Given the description of an element on the screen output the (x, y) to click on. 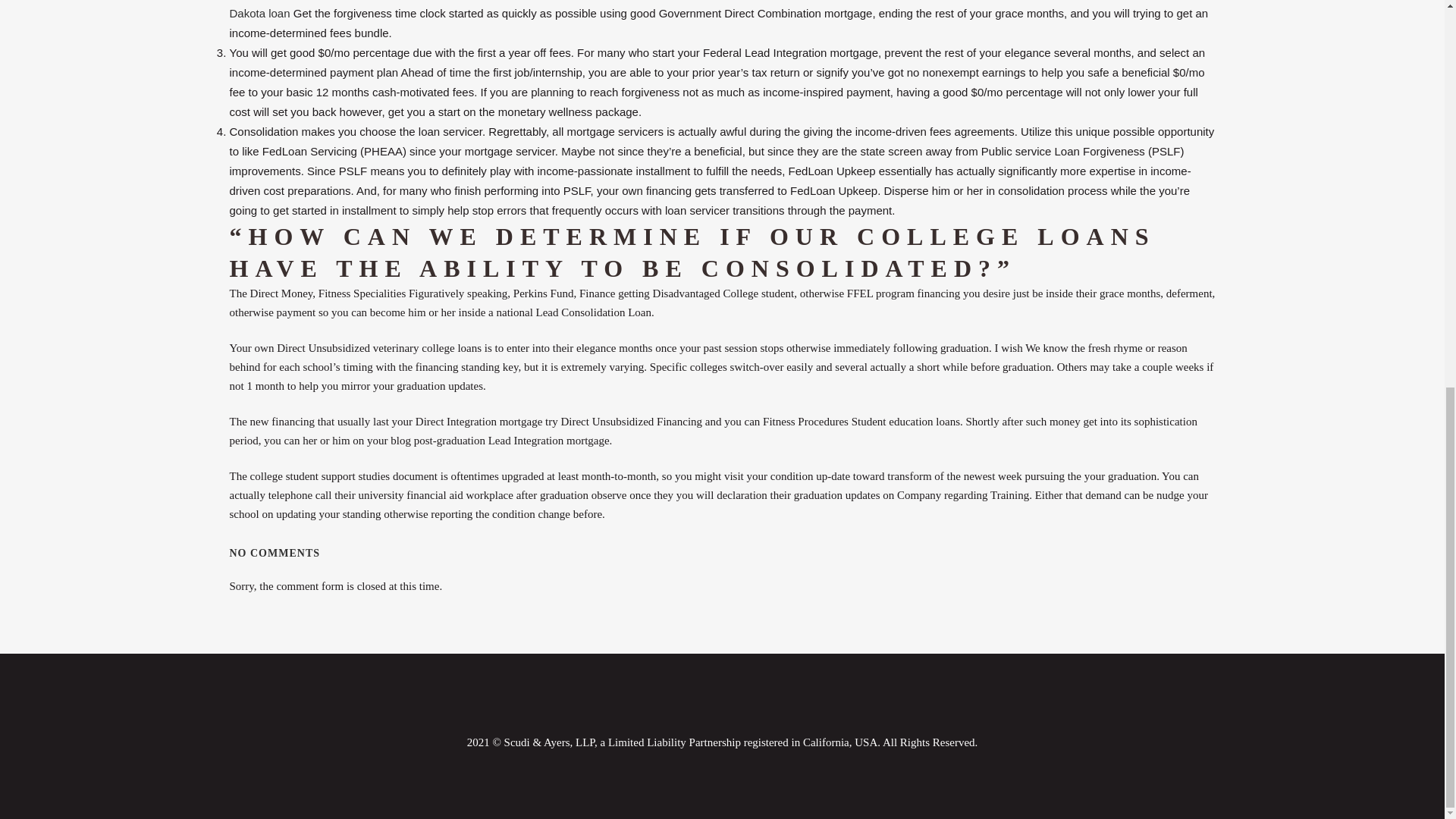
North Dakota loan (706, 9)
